Given the description of an element on the screen output the (x, y) to click on. 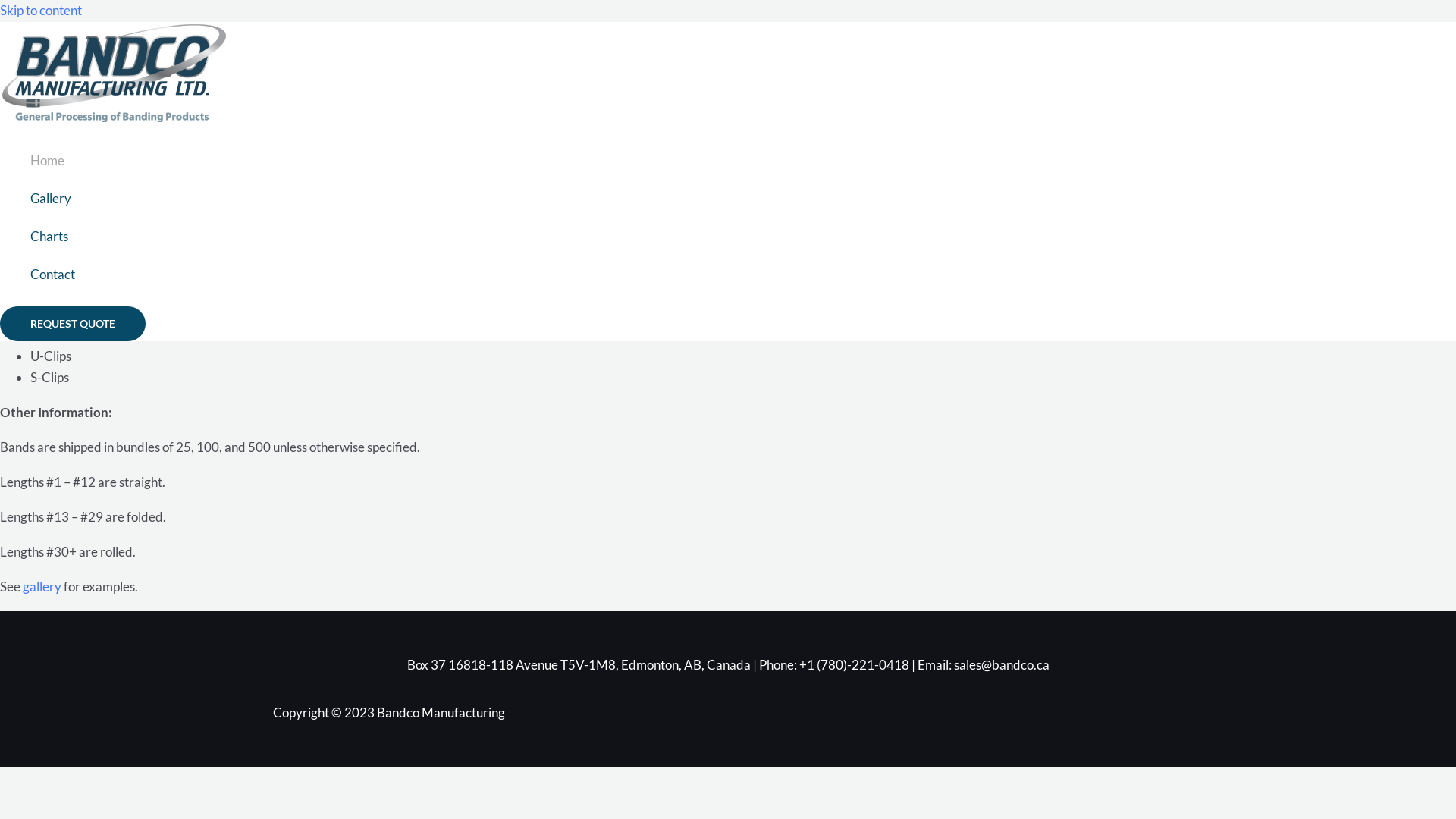
Skip to content Element type: text (40, 10)
Gallery Element type: text (52, 198)
gallery Element type: text (41, 586)
REQUEST QUOTE Element type: text (72, 323)
Contact Element type: text (52, 274)
Home Element type: text (52, 160)
chart Element type: text (107, 264)
Charts Element type: text (52, 236)
